Given the description of an element on the screen output the (x, y) to click on. 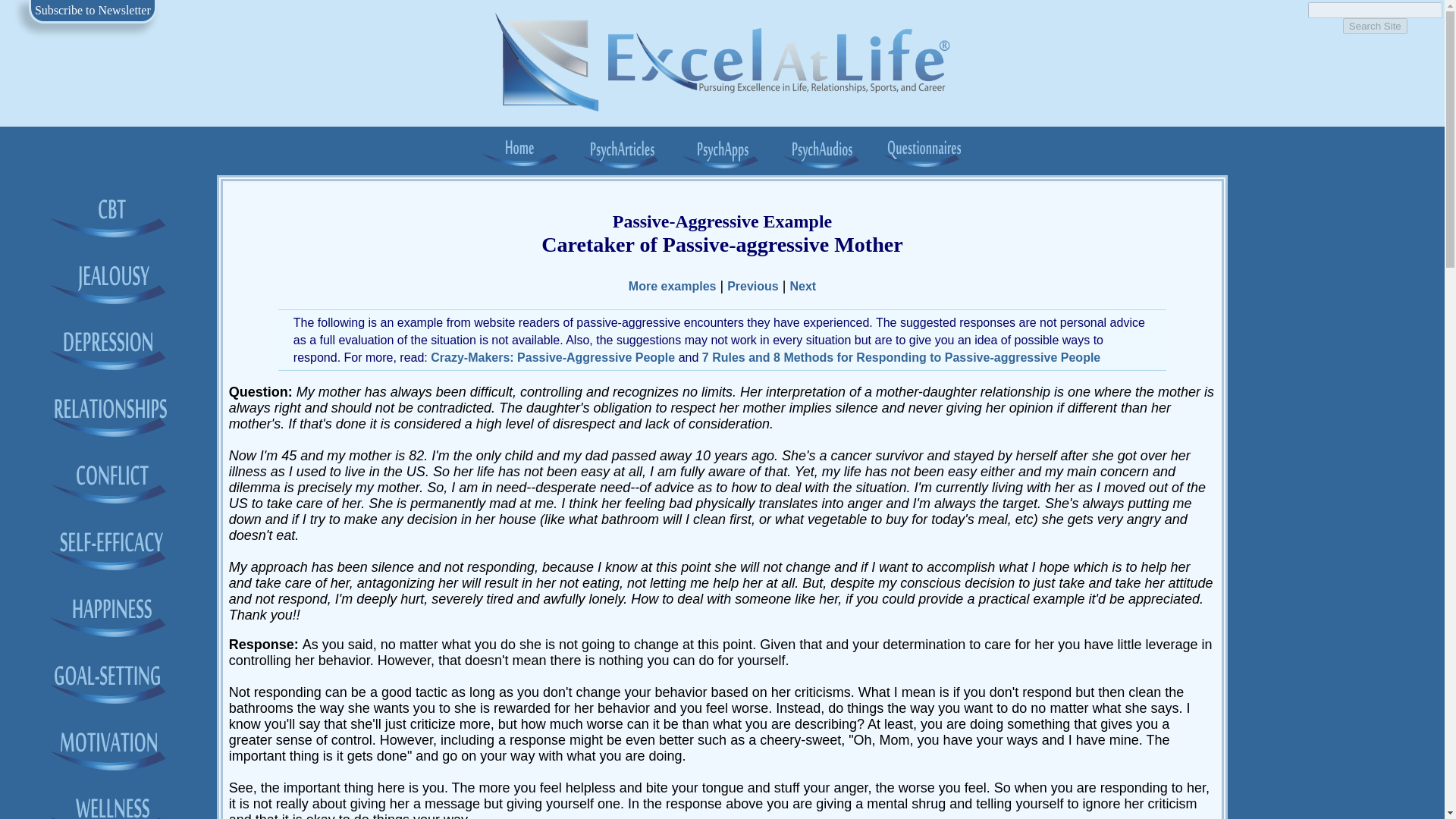
Subscribe to Newsletter (92, 10)
Search Site (1374, 26)
Search Site (1374, 26)
